Given the description of an element on the screen output the (x, y) to click on. 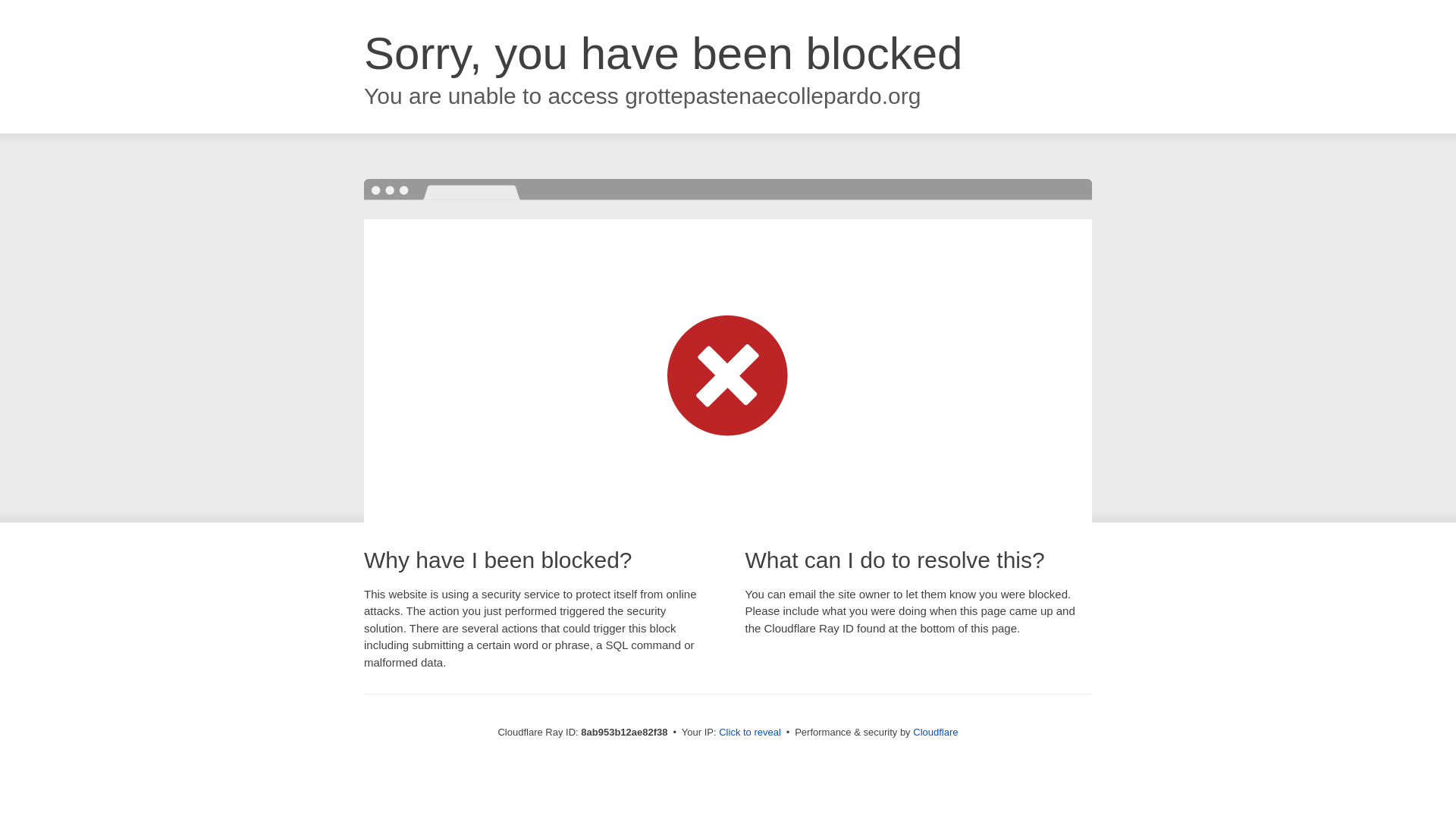
Click to reveal (749, 732)
Cloudflare (935, 731)
